Given the description of an element on the screen output the (x, y) to click on. 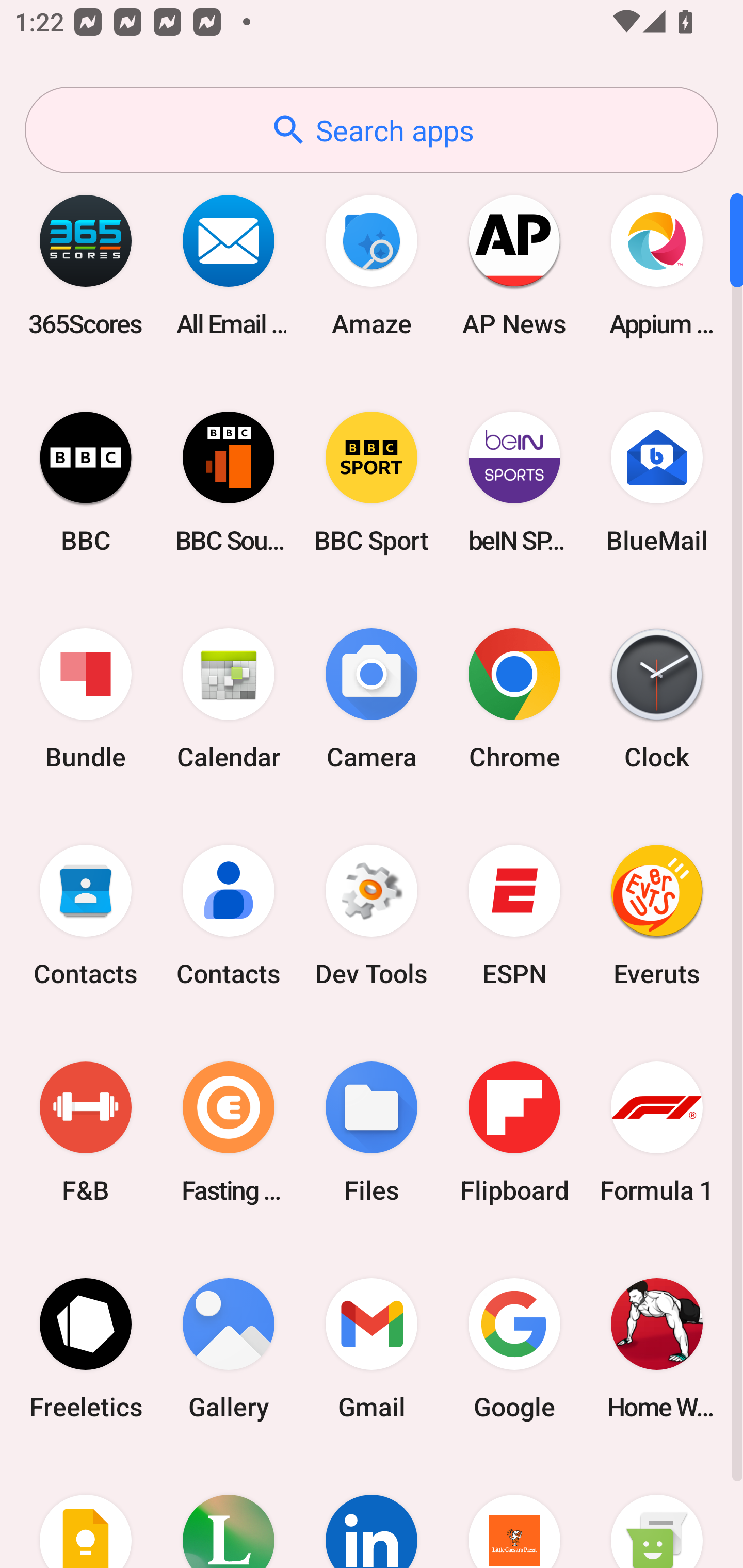
  Search apps (371, 130)
365Scores (85, 264)
All Email Connect (228, 264)
Amaze (371, 264)
AP News (514, 264)
Appium Settings (656, 264)
BBC (85, 482)
BBC Sounds (228, 482)
BBC Sport (371, 482)
beIN SPORTS (514, 482)
BlueMail (656, 482)
Bundle (85, 699)
Calendar (228, 699)
Camera (371, 699)
Chrome (514, 699)
Clock (656, 699)
Contacts (85, 915)
Contacts (228, 915)
Dev Tools (371, 915)
ESPN (514, 915)
Everuts (656, 915)
F&B (85, 1131)
Fasting Coach (228, 1131)
Files (371, 1131)
Flipboard (514, 1131)
Formula 1 (656, 1131)
Freeletics (85, 1348)
Gallery (228, 1348)
Gmail (371, 1348)
Google (514, 1348)
Home Workout (656, 1348)
Keep Notes (85, 1512)
Lifesum (228, 1512)
LinkedIn (371, 1512)
Little Caesars Pizza (514, 1512)
Messaging (656, 1512)
